Given the description of an element on the screen output the (x, y) to click on. 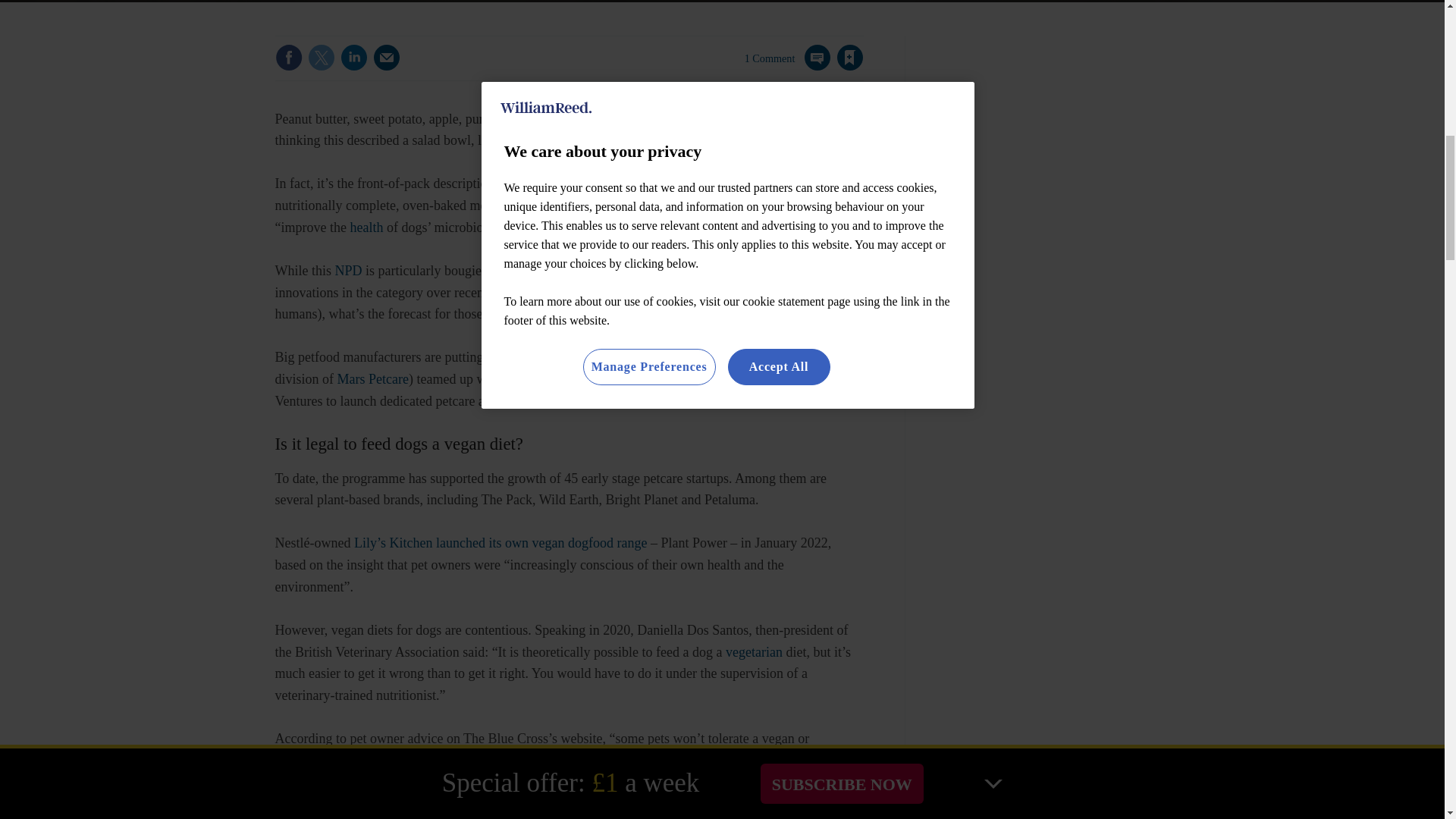
1 Comment (787, 66)
Share this on Facebook (288, 57)
Share this on Linked in (352, 57)
Share this on Twitter (320, 57)
Email this article (386, 57)
